Given the description of an element on the screen output the (x, y) to click on. 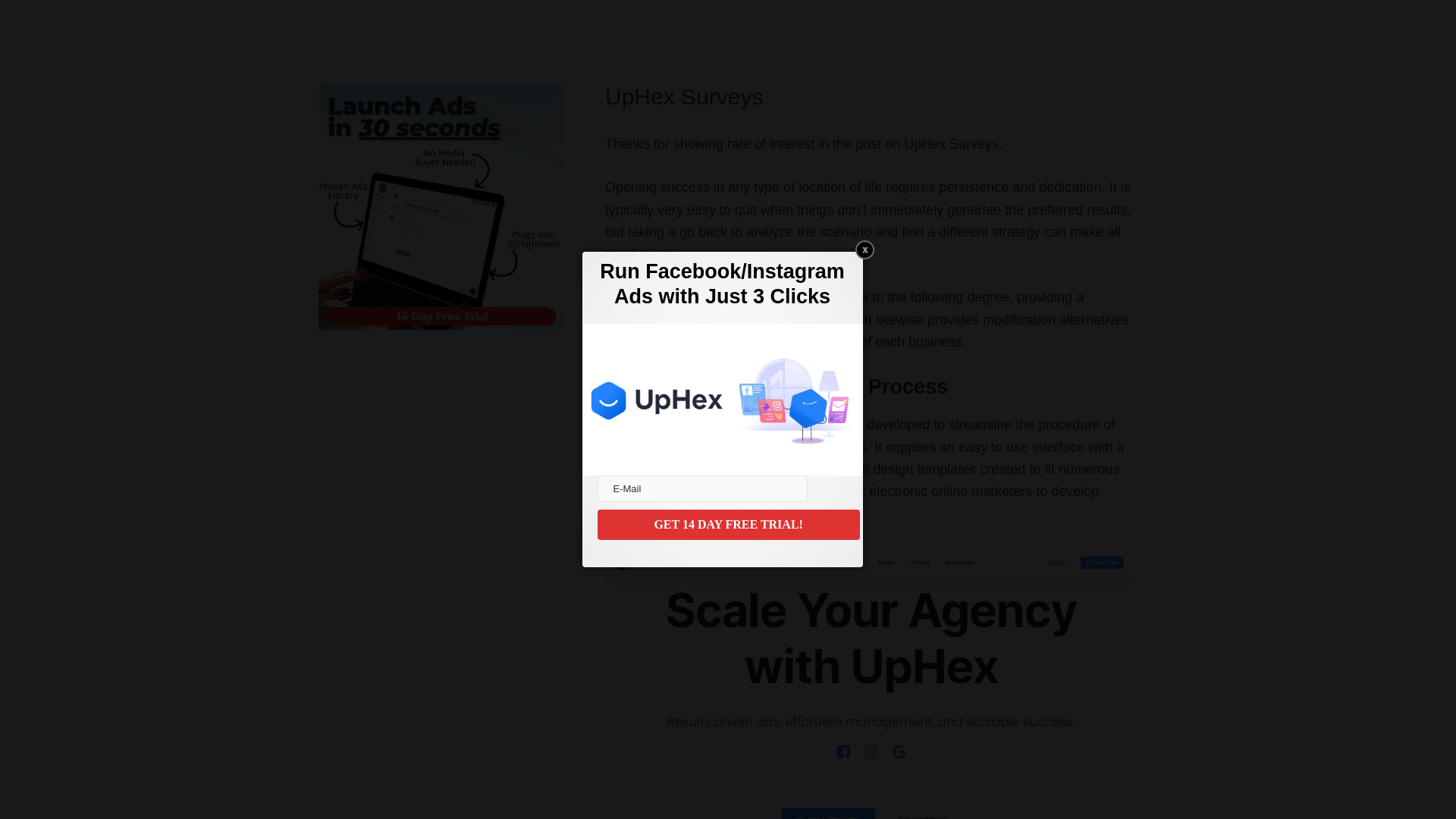
GET 14 DAY FREE TRIAL! (728, 524)
GET 14 DAY FREE TRIAL! (728, 524)
